Given the description of an element on the screen output the (x, y) to click on. 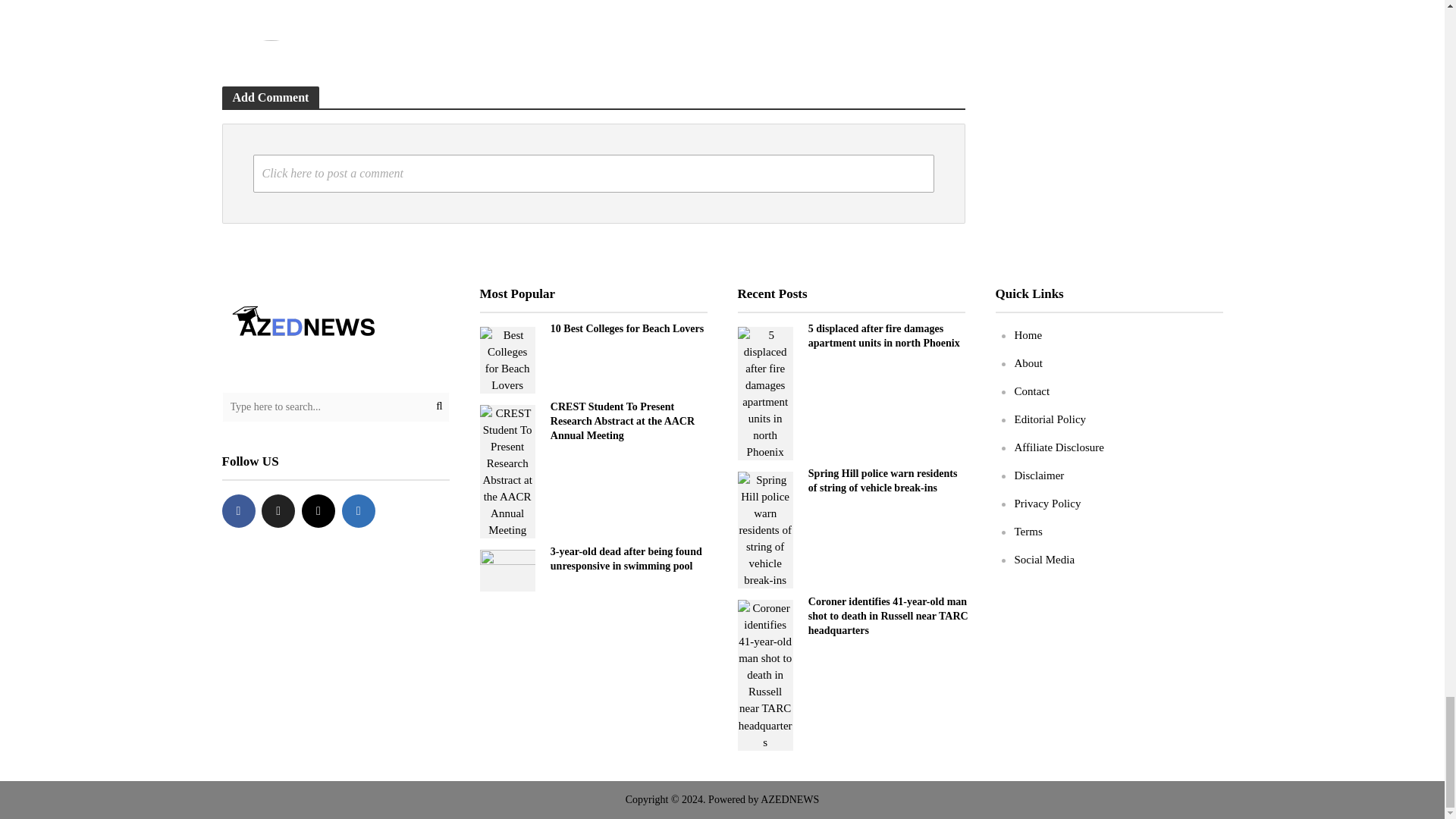
Linkedin (358, 510)
Instagram (317, 510)
Facebook (237, 510)
